Given the description of an element on the screen output the (x, y) to click on. 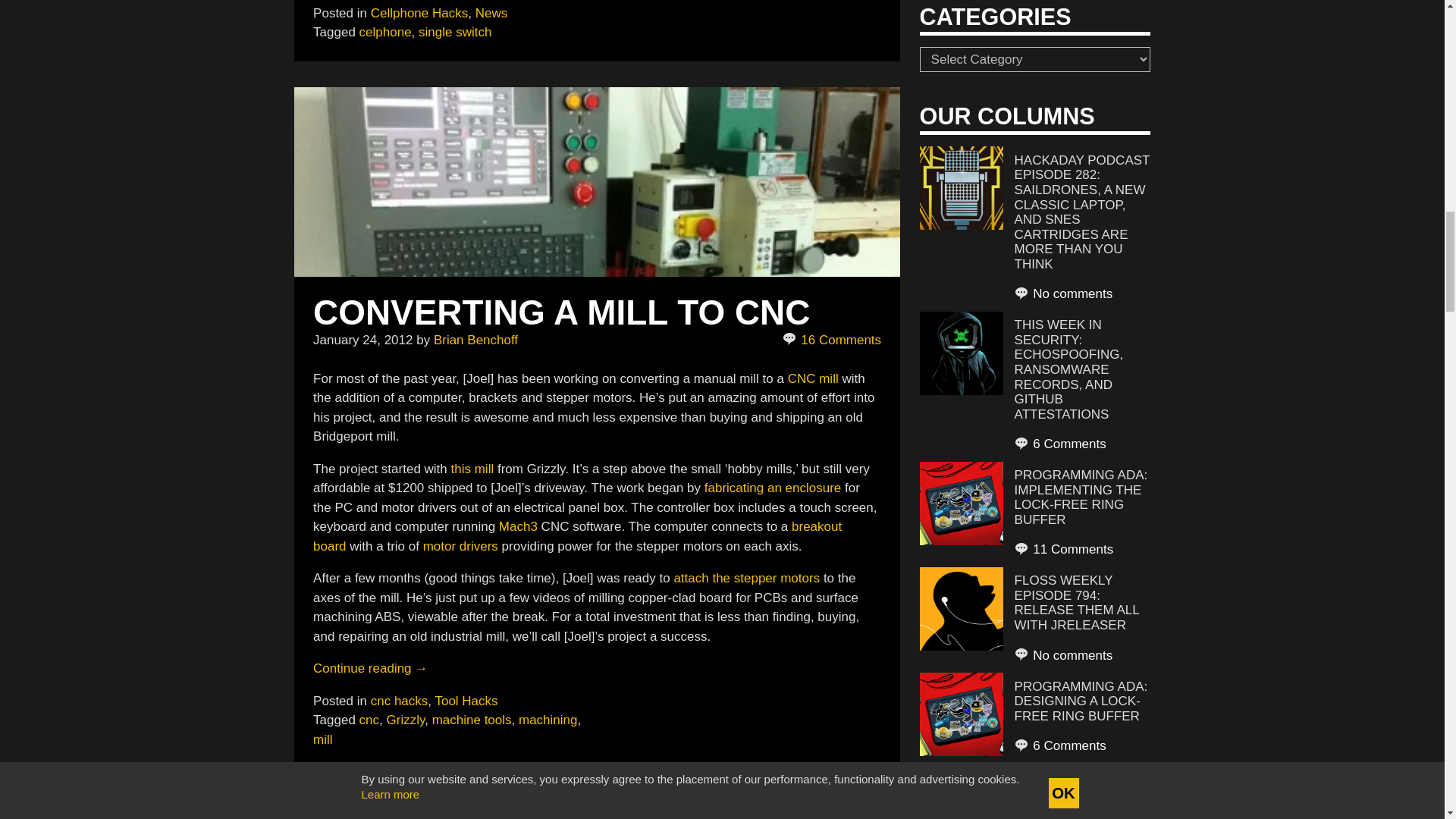
16 Comments (832, 340)
single switch (455, 32)
Cellphone Hacks (419, 12)
Posts by Brian Benchoff (475, 339)
CONVERTING A MILL TO CNC (561, 312)
January 24, 2012 - 12:01 pm (362, 339)
News (492, 12)
celphone (385, 32)
Brian Benchoff (475, 339)
CNC mill (812, 378)
